Given the description of an element on the screen output the (x, y) to click on. 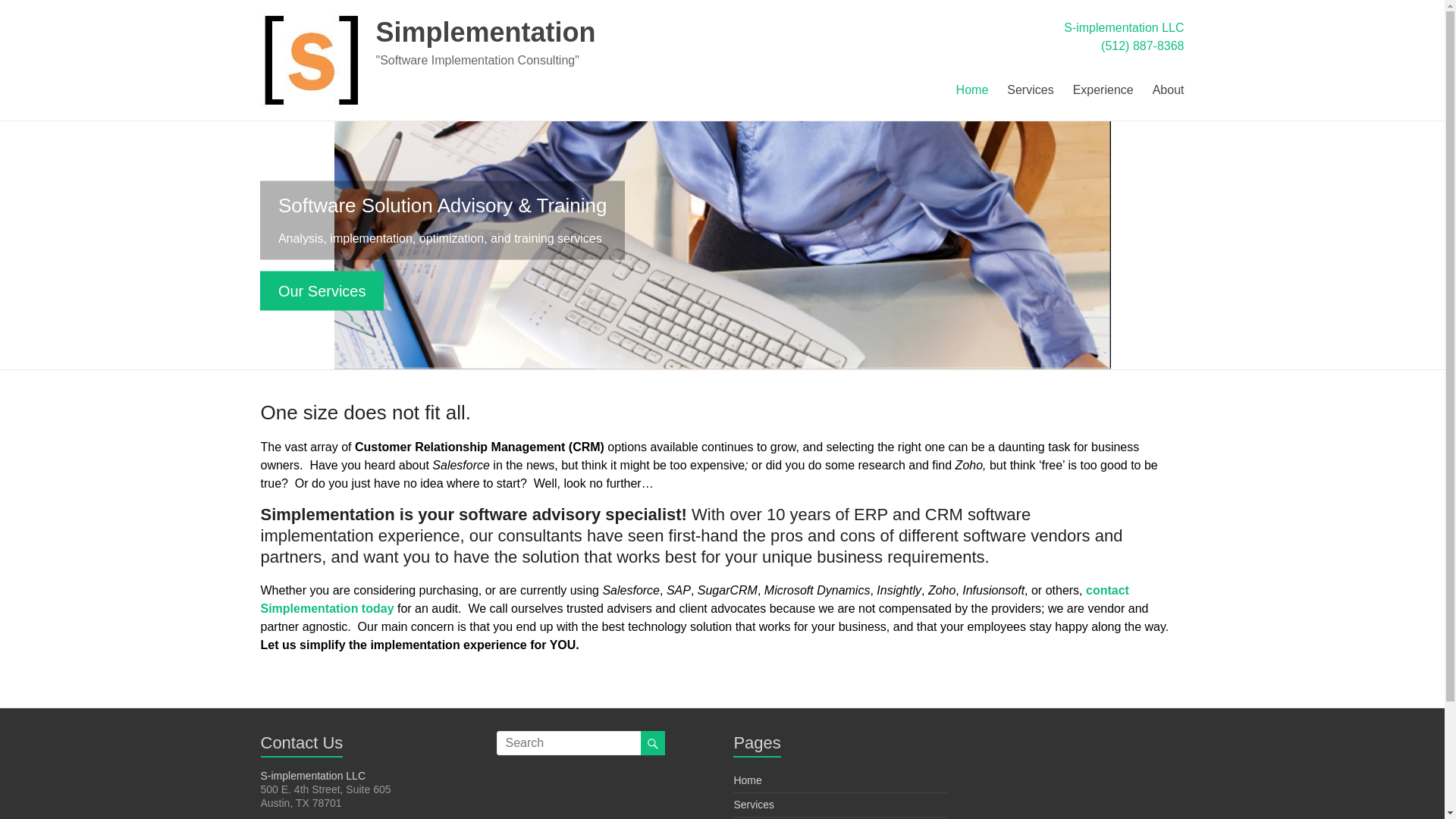
Experience (1103, 87)
Simplementation (485, 31)
Services (1029, 87)
Home (747, 779)
S-implementation LLC (1123, 27)
Simplementation (310, 18)
contact Simplementation today (694, 599)
Simplementation (485, 31)
S-implementation LLC (313, 775)
Our Services (322, 290)
